Given the description of an element on the screen output the (x, y) to click on. 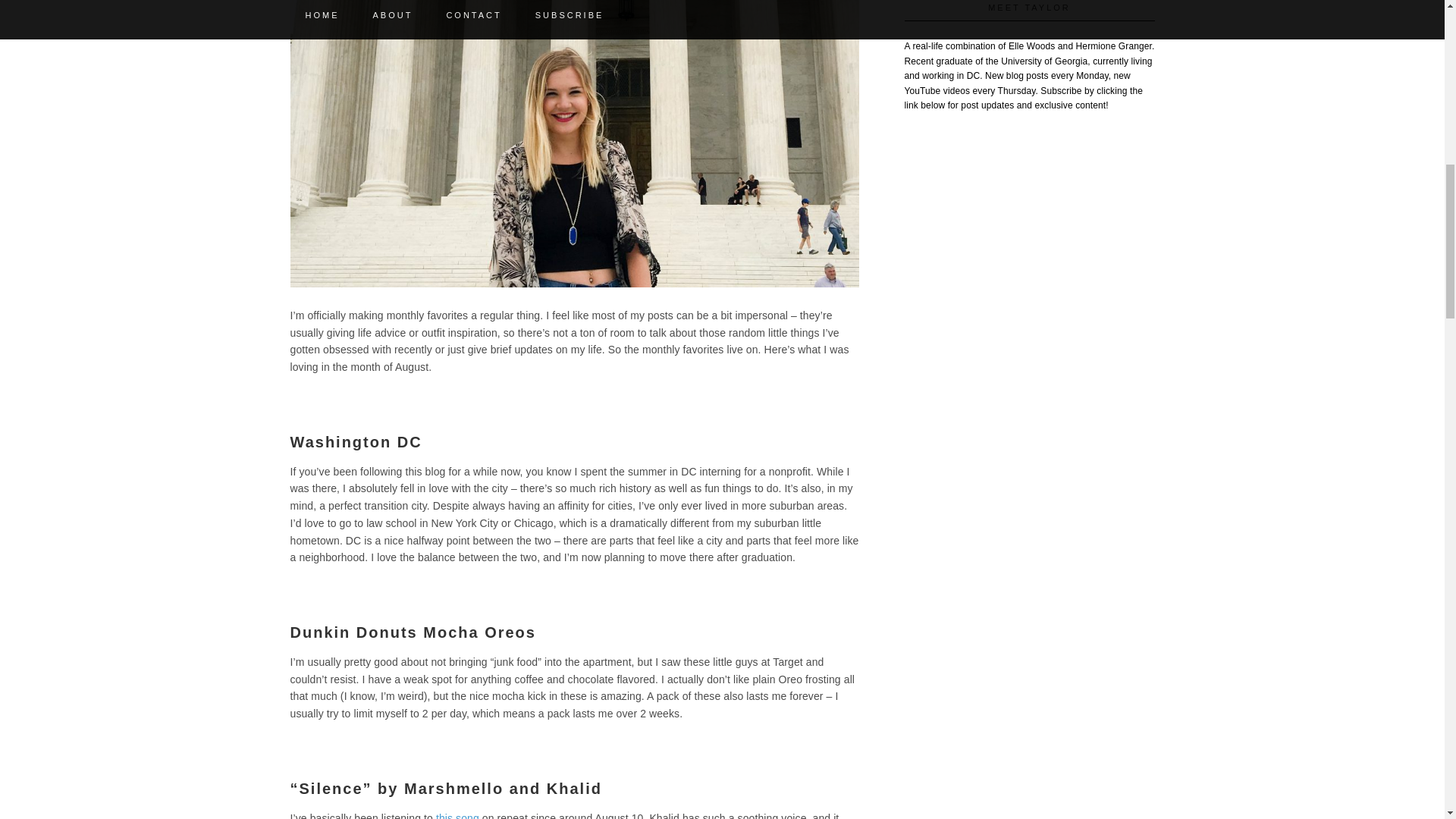
this song (457, 815)
